Given the description of an element on the screen output the (x, y) to click on. 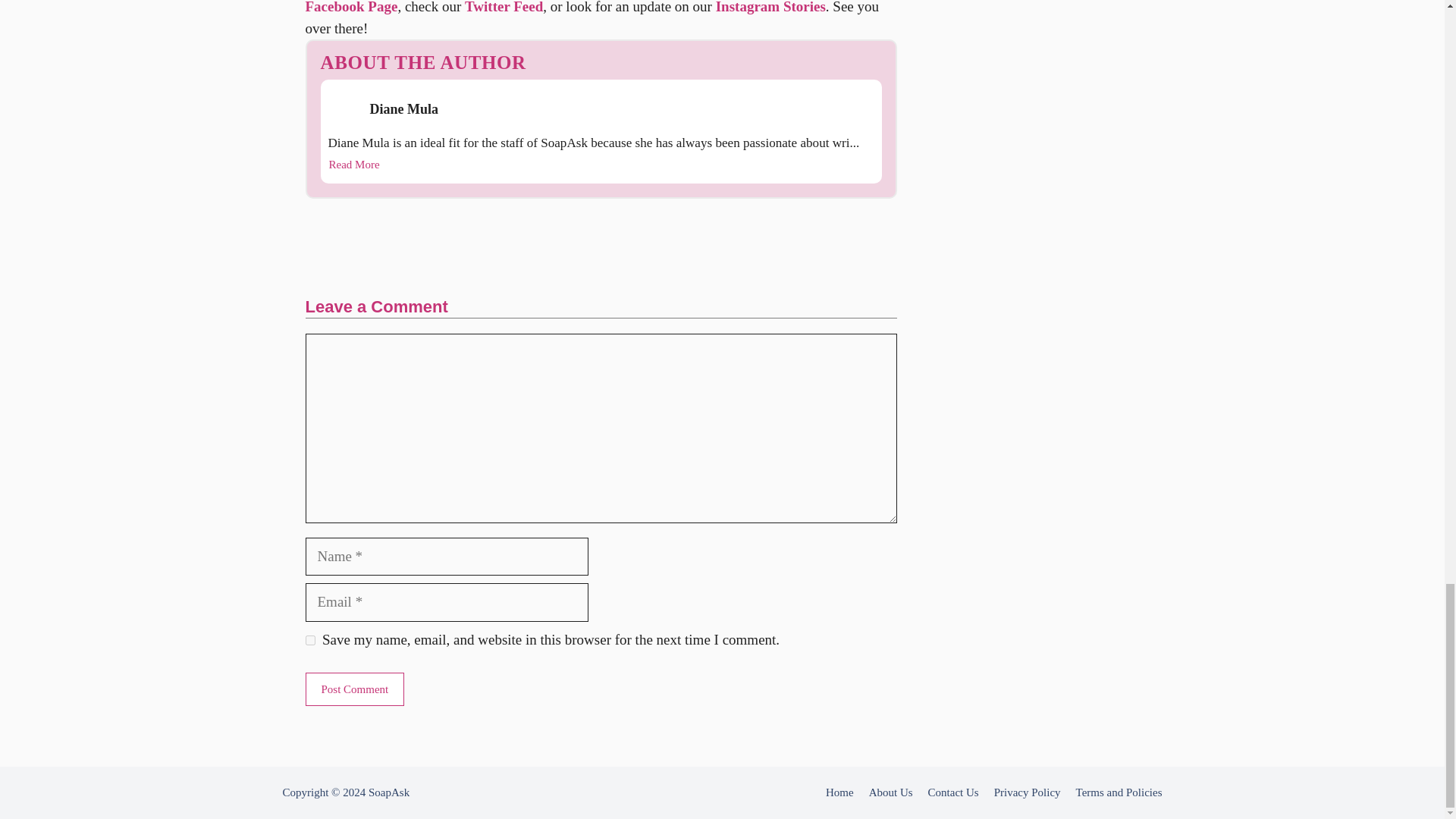
Post Comment (354, 689)
yes (309, 640)
